Given the description of an element on the screen output the (x, y) to click on. 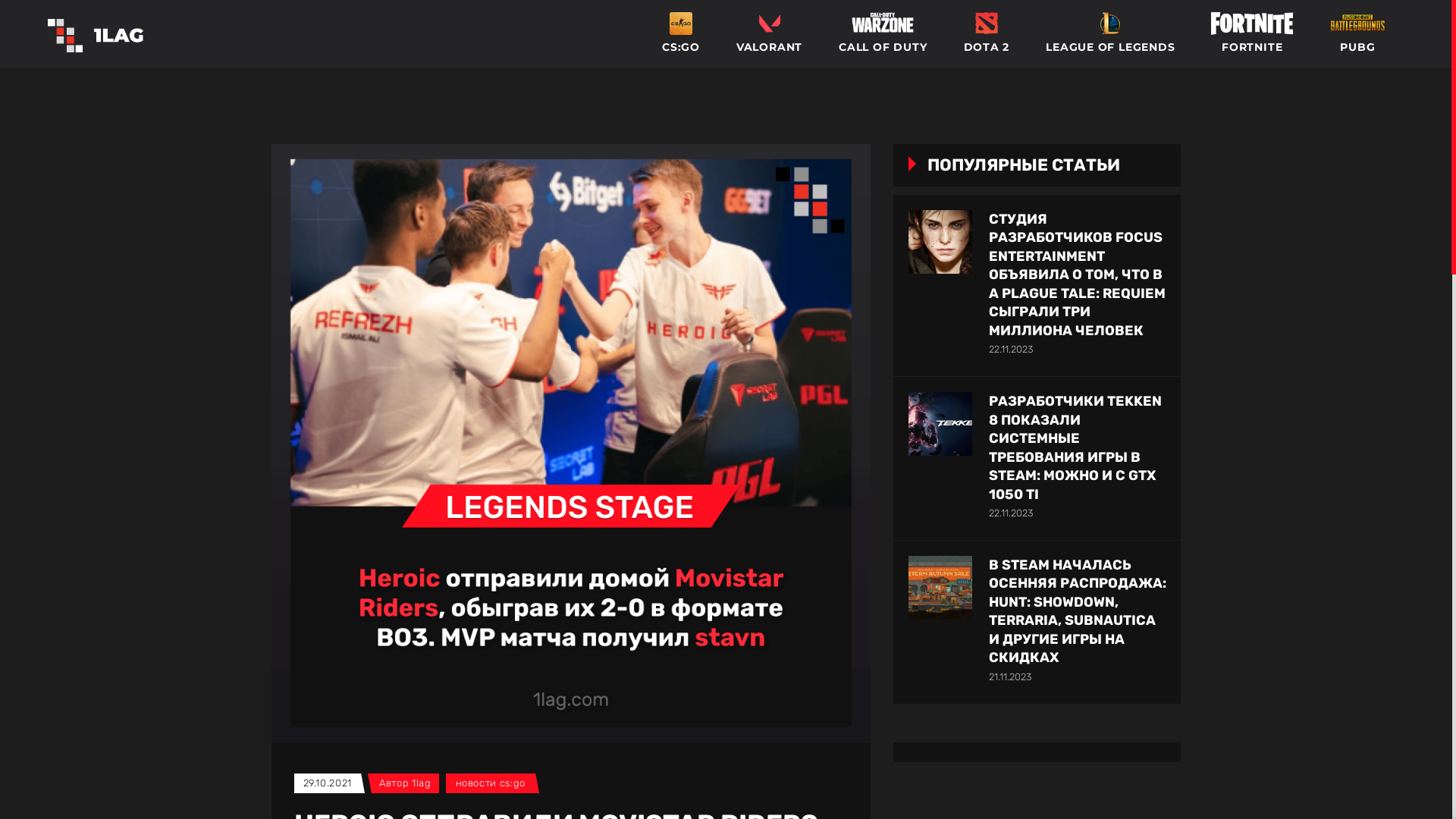
PUBG Element type: text (1357, 34)
CS:GO Element type: text (680, 34)
FORTNITE Element type: text (1251, 34)
22.11.2023 Element type: text (1010, 512)
22.11.2023 Element type: text (1010, 348)
DOTA 2 Element type: text (985, 34)
29.10.2021 Element type: text (327, 782)
VALORANT Element type: text (769, 34)
CALL OF DUTY Element type: text (882, 34)
LEAGUE OF LEGENDS Element type: text (1109, 34)
1lag Element type: text (421, 782)
21.11.2023 Element type: text (1009, 676)
